Given the description of an element on the screen output the (x, y) to click on. 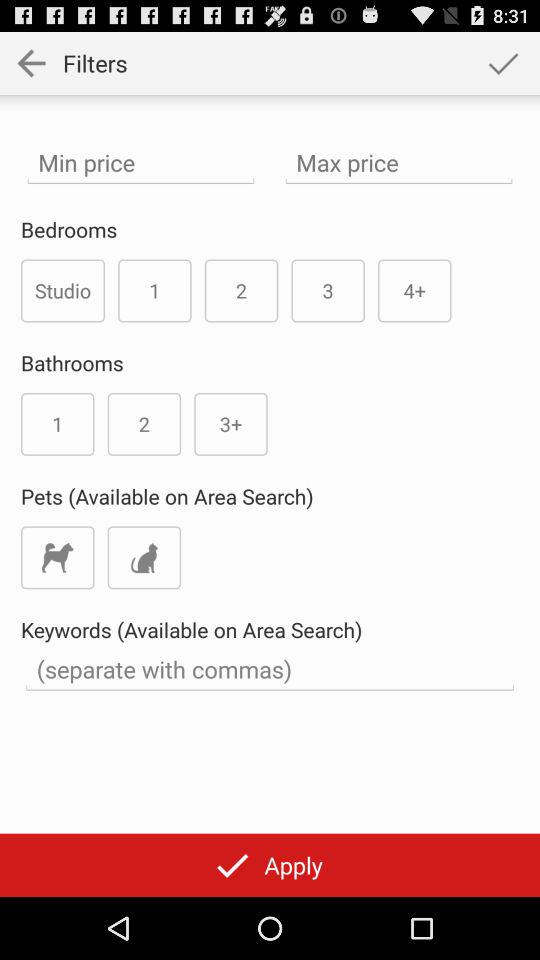
choose the 4+ icon (414, 290)
